Given the description of an element on the screen output the (x, y) to click on. 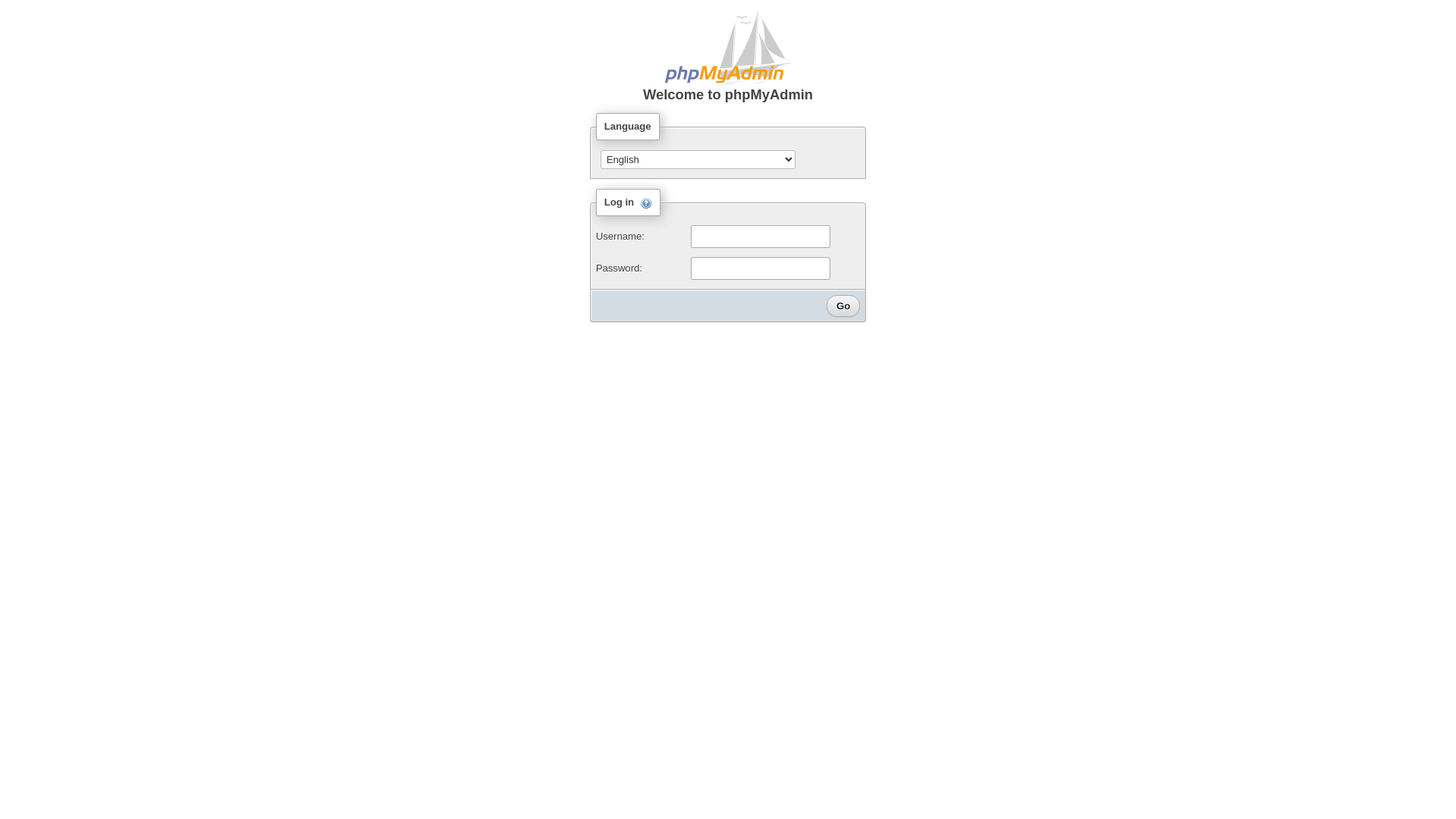
Documentation Element type: hover (646, 203)
Go Element type: text (842, 305)
